Given the description of an element on the screen output the (x, y) to click on. 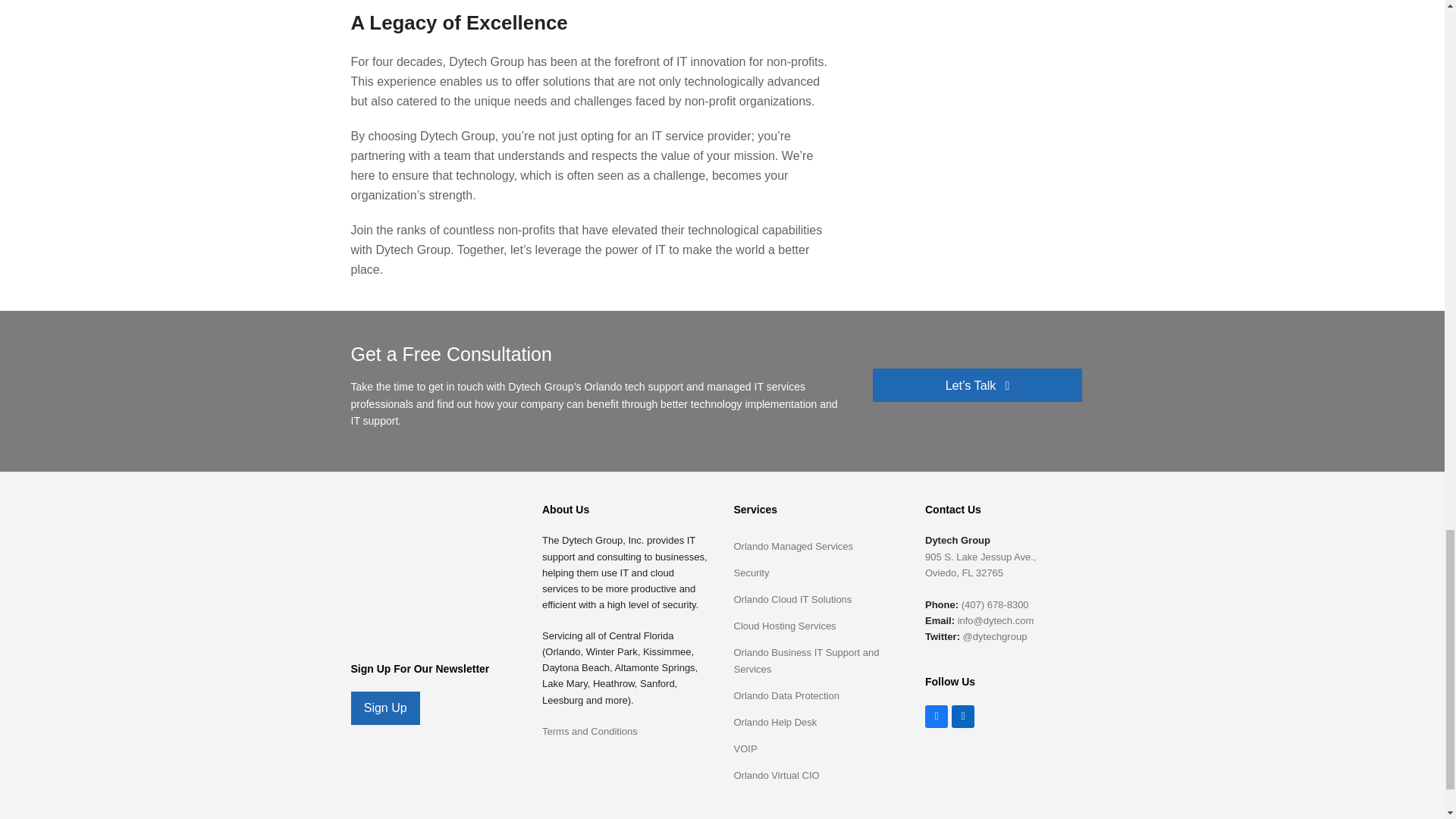
LinkedIn (963, 716)
Facebook (935, 716)
Sign Up (384, 707)
